Given the description of an element on the screen output the (x, y) to click on. 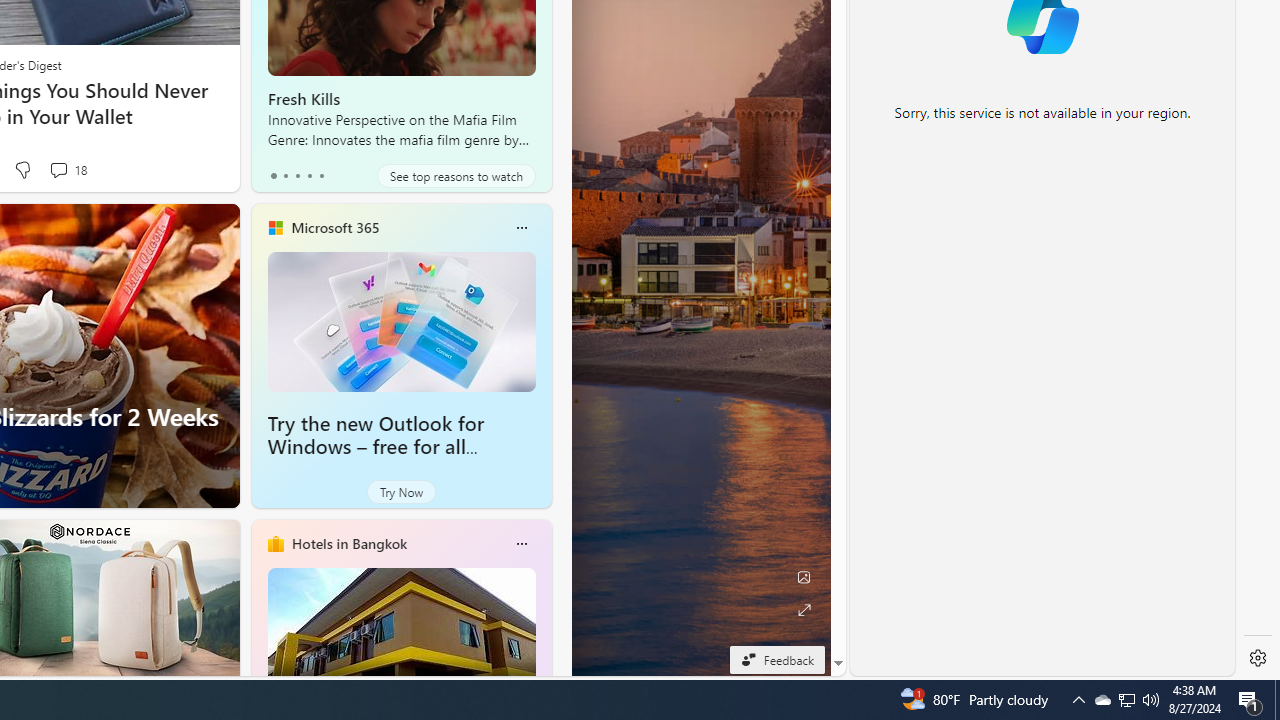
hotels-header-icon (275, 543)
Try Now (401, 491)
Expand background (803, 610)
Hotels in Bangkok (348, 543)
tab-4 (320, 175)
